Given the description of an element on the screen output the (x, y) to click on. 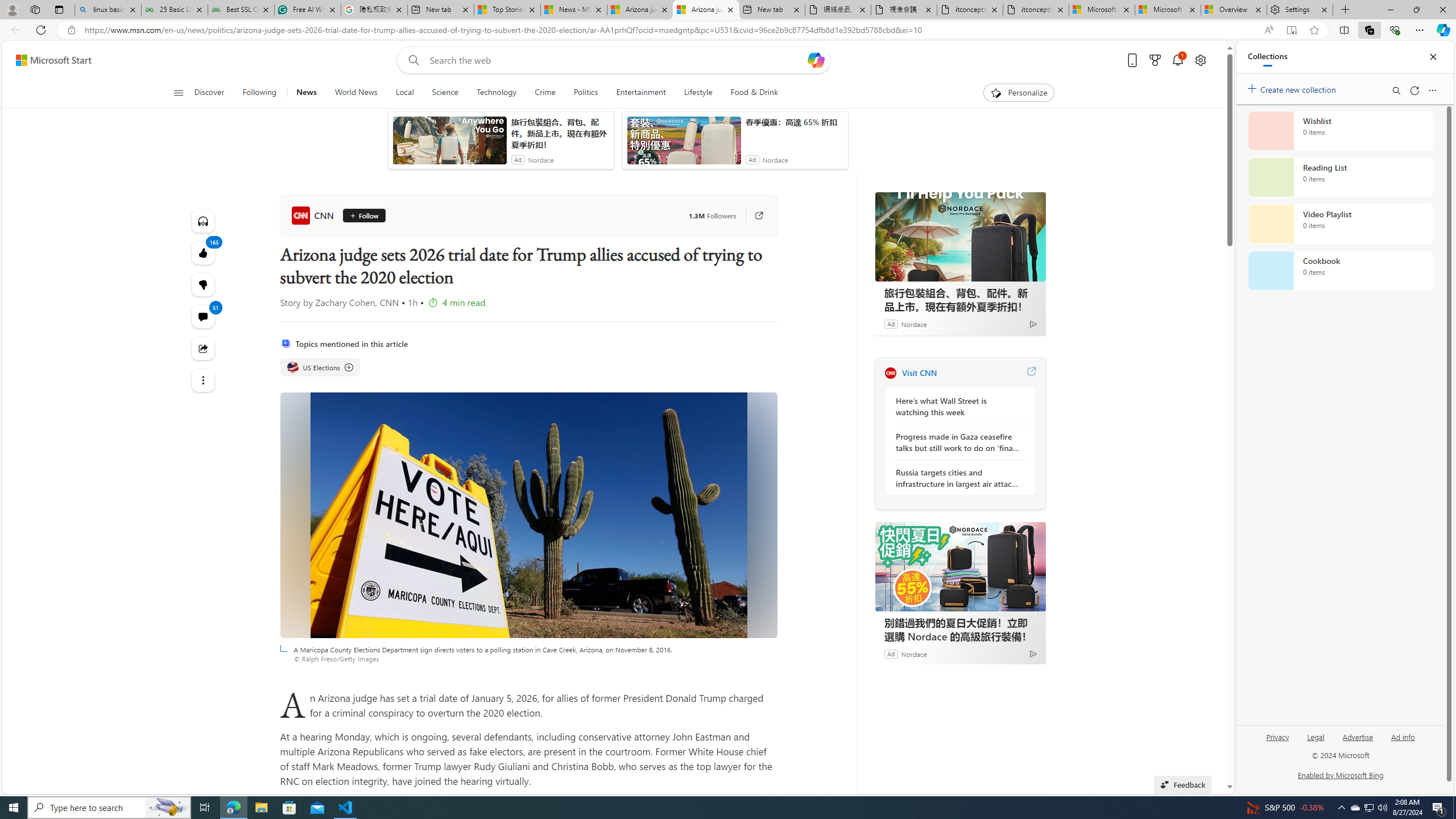
Legal (1315, 741)
Privacy (1277, 741)
Nordace (914, 653)
